Given the description of an element on the screen output the (x, y) to click on. 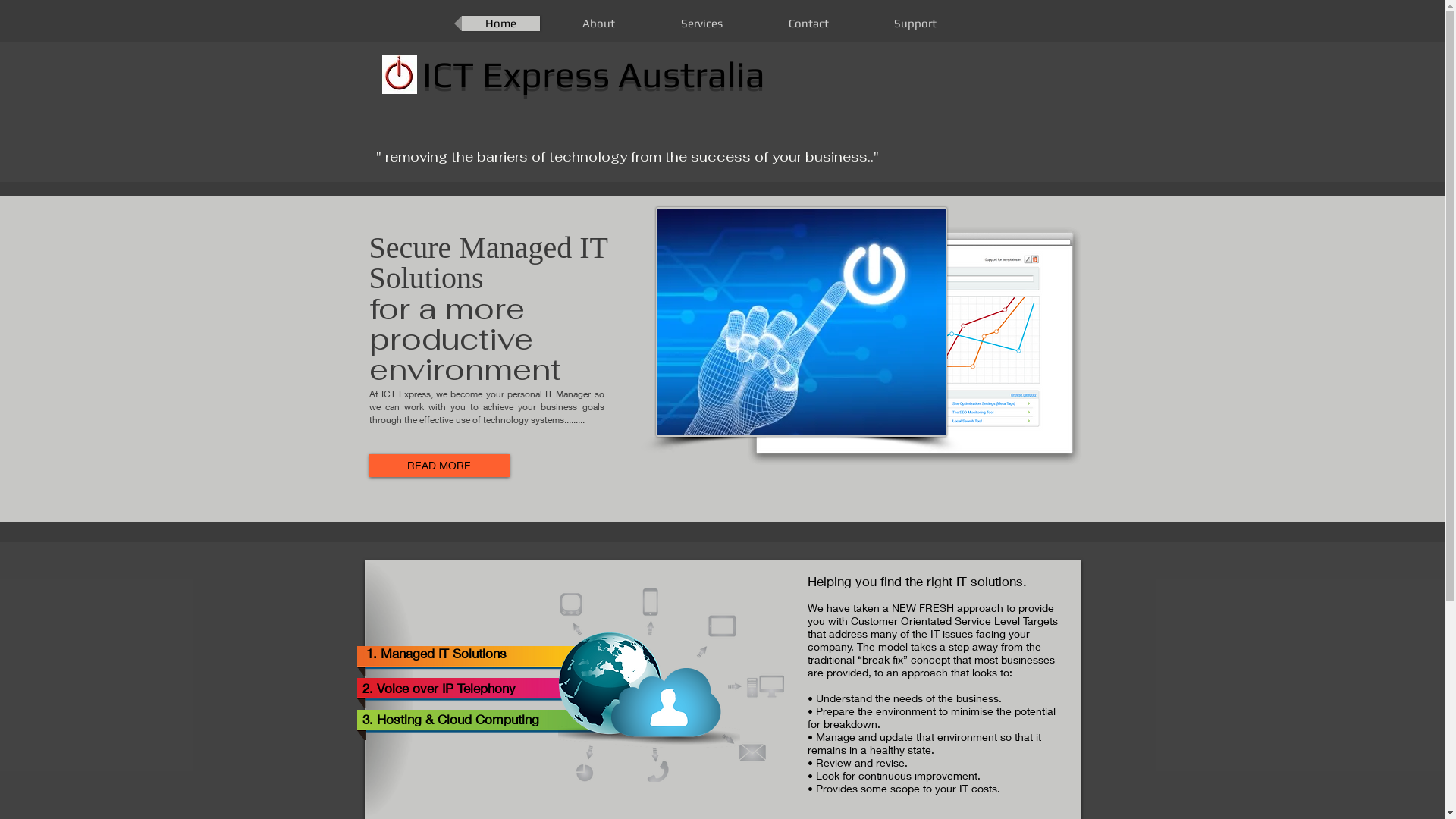
Services Element type: text (701, 23)
ID-10081650.jpg Element type: hover (800, 321)
About Element type: text (597, 23)
Support Element type: text (914, 23)
READ MORE Element type: text (438, 465)
Home Element type: text (499, 23)
Contact Element type: text (807, 23)
